Given the description of an element on the screen output the (x, y) to click on. 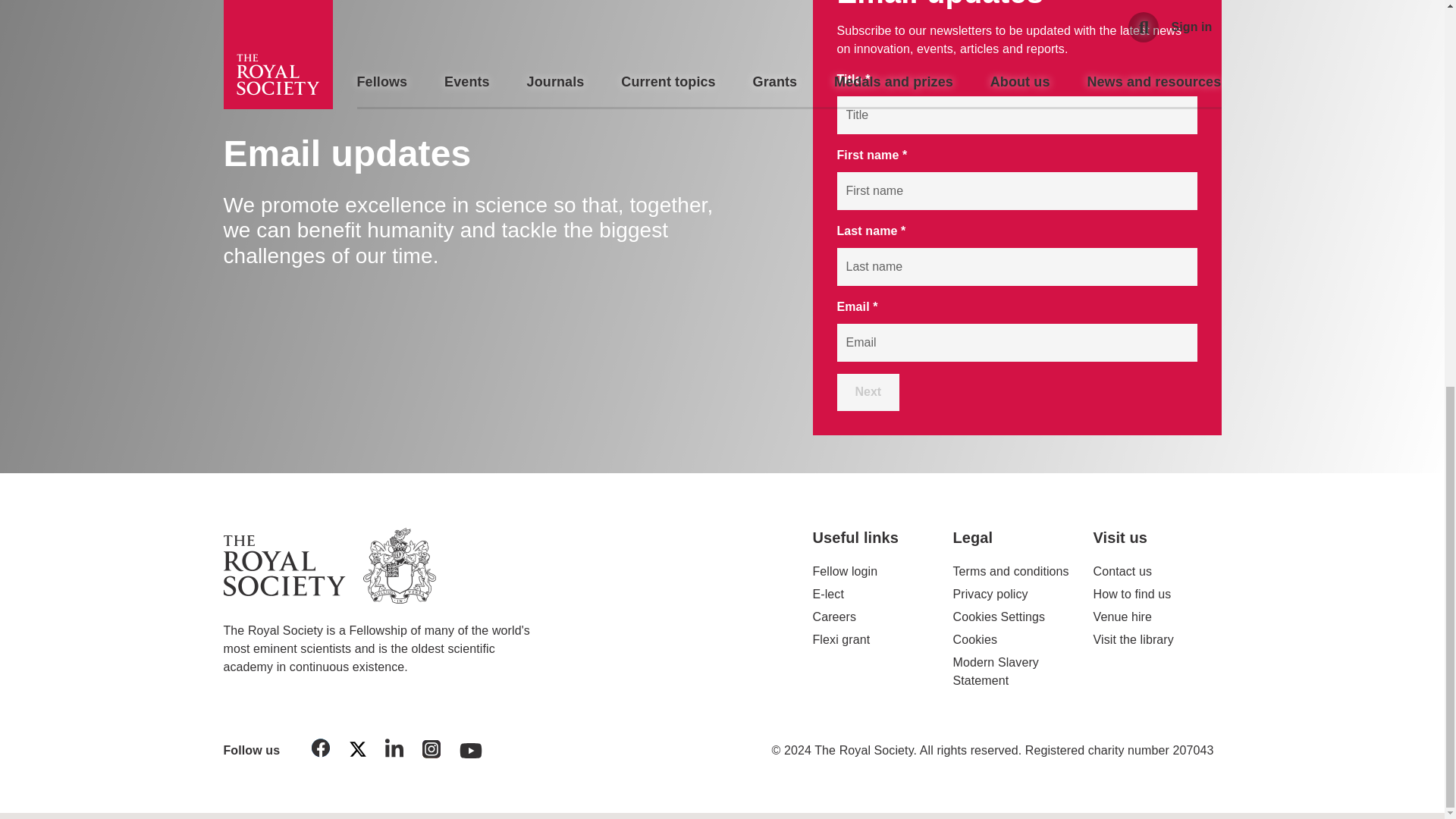
LinkedIn (393, 750)
Instagram (431, 751)
YouTube (470, 746)
Facebook (320, 750)
Twitter (357, 752)
